Given the description of an element on the screen output the (x, y) to click on. 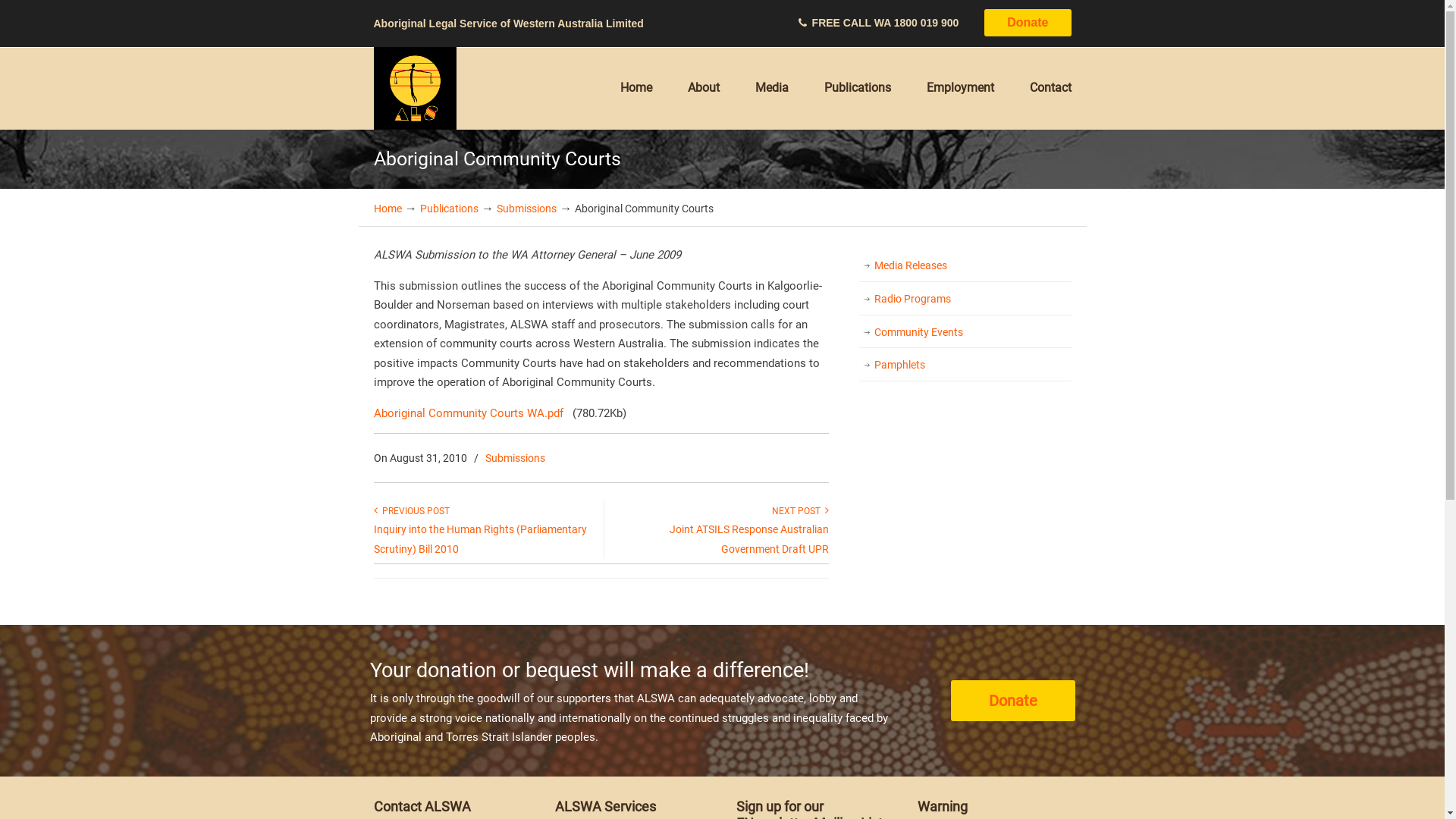
Submissions Element type: text (526, 207)
Media Releases Element type: text (964, 265)
Submissions Element type: text (515, 457)
Publications Element type: text (449, 207)
Contact Element type: text (1050, 87)
Media Element type: text (771, 87)
Radio Programs Element type: text (964, 299)
 PREVIOUS POST Element type: text (410, 510)
Employment Element type: text (960, 87)
Pamphlets Element type: text (964, 365)
Donate Element type: text (1027, 22)
Joint ATSILS Response Australian Government Draft UPR Element type: text (748, 539)
1800 019 900 Element type: text (926, 22)
Publications Element type: text (856, 87)
About Element type: text (702, 87)
Community Events Element type: text (964, 332)
NEXT POST   Element type: text (799, 510)
Donate Element type: text (1012, 700)
Home Element type: text (387, 207)
Home Element type: text (636, 87)
Aboriginal Legal Service Element type: text (414, 88)
Aboriginal Community Courts WA.pdf Element type: text (467, 413)
